Given the description of an element on the screen output the (x, y) to click on. 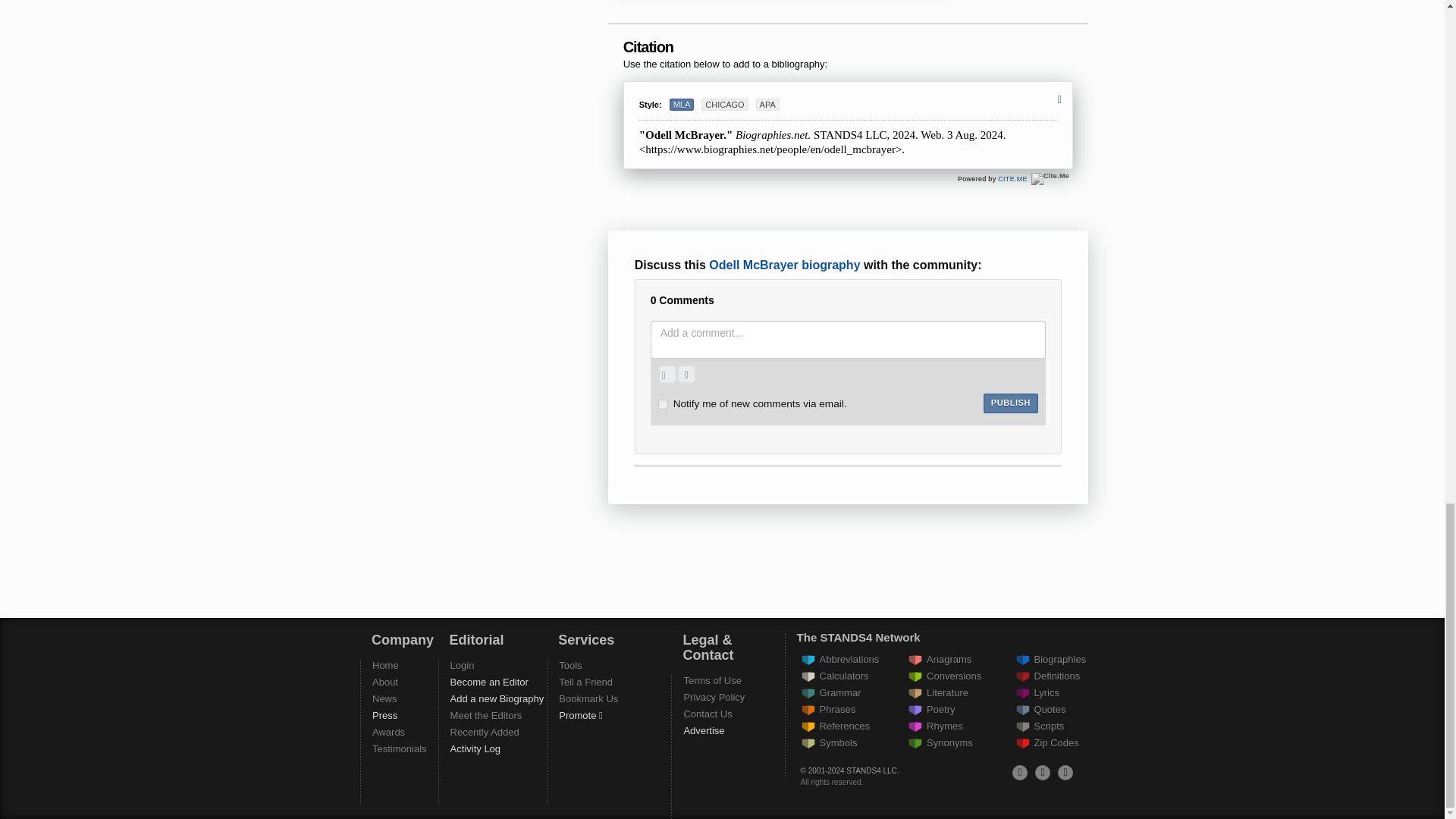
Cite.Me (1050, 178)
Cite.Me (1012, 178)
on (663, 404)
Upload an image (667, 374)
Record a sound (686, 374)
Cite.Me (1049, 178)
